Given the description of an element on the screen output the (x, y) to click on. 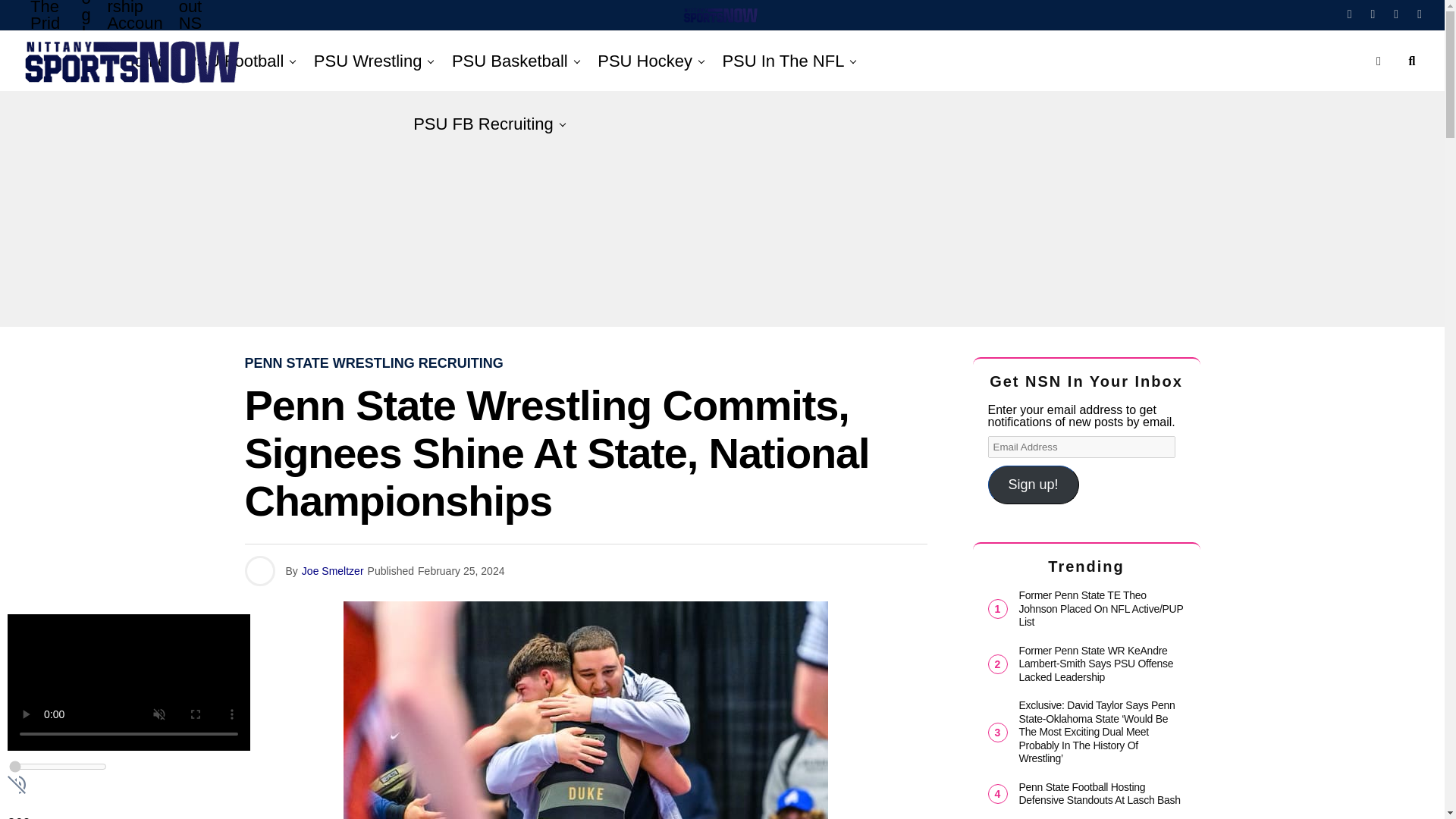
PSU Wrestling (367, 61)
PSU Football (234, 61)
Home (144, 61)
Membership Account (134, 35)
Posts by Joe Smeltzer (332, 571)
